Given the description of an element on the screen output the (x, y) to click on. 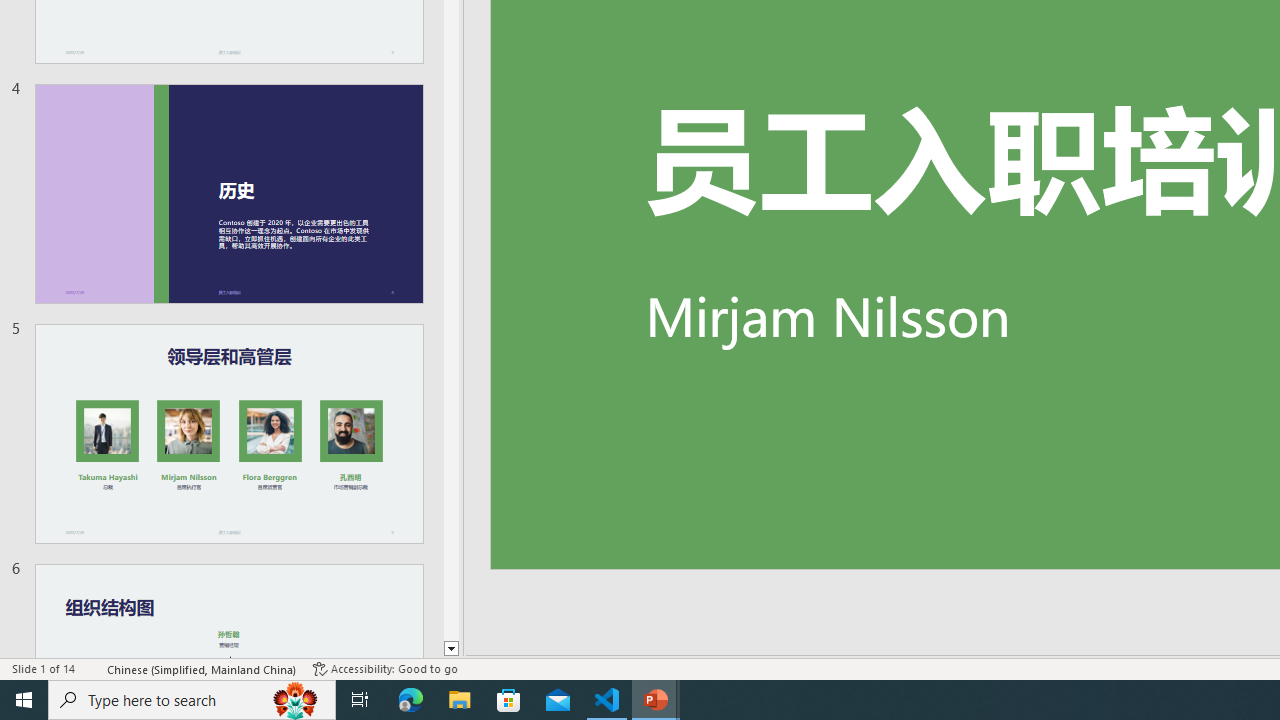
PowerPoint - 2 running windows (656, 699)
Spell Check  (92, 668)
